Given the description of an element on the screen output the (x, y) to click on. 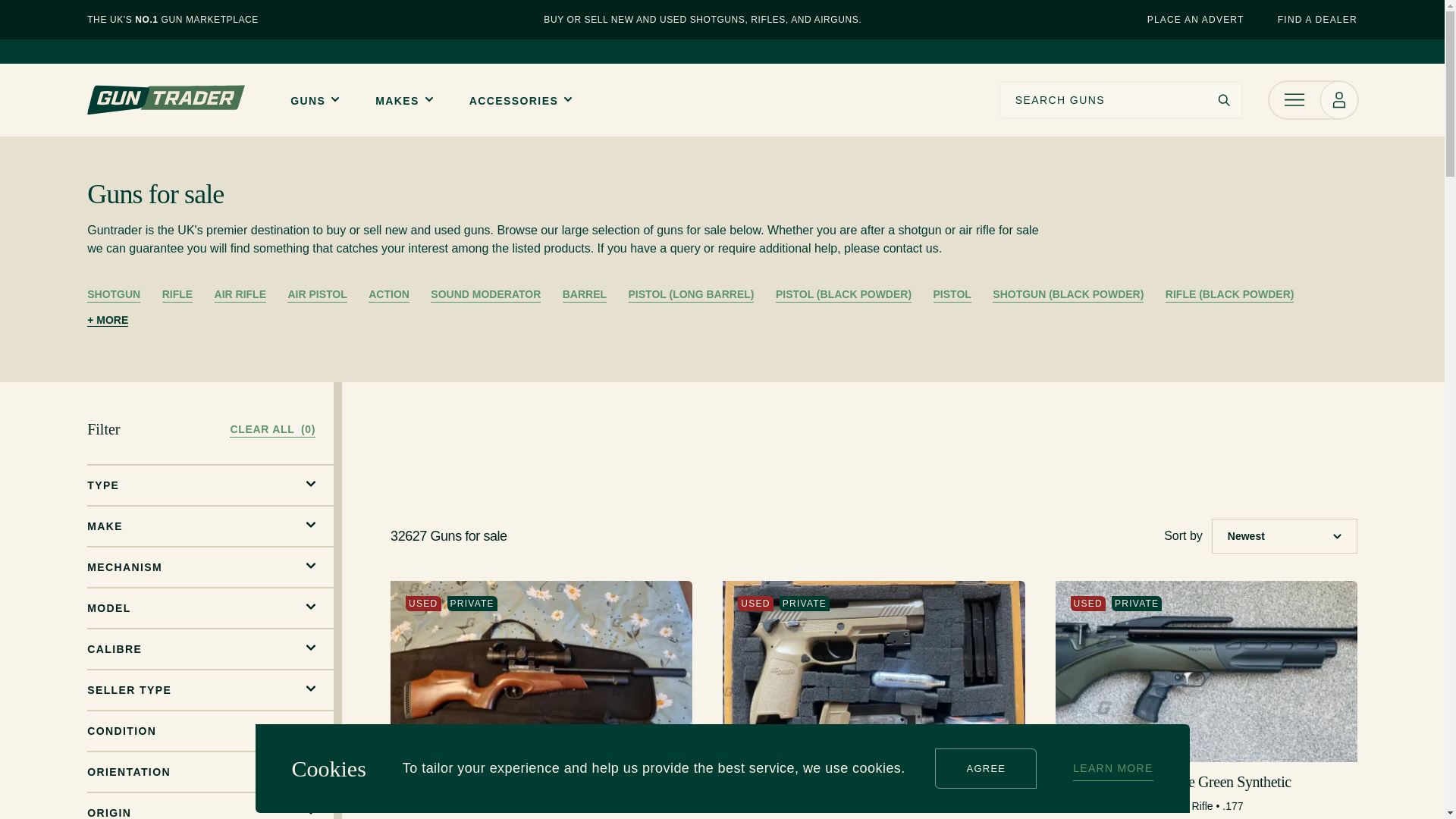
FIND A DEALER (1317, 19)
GUNS (314, 100)
PLACE AN ADVERT (1197, 19)
